Given the description of an element on the screen output the (x, y) to click on. 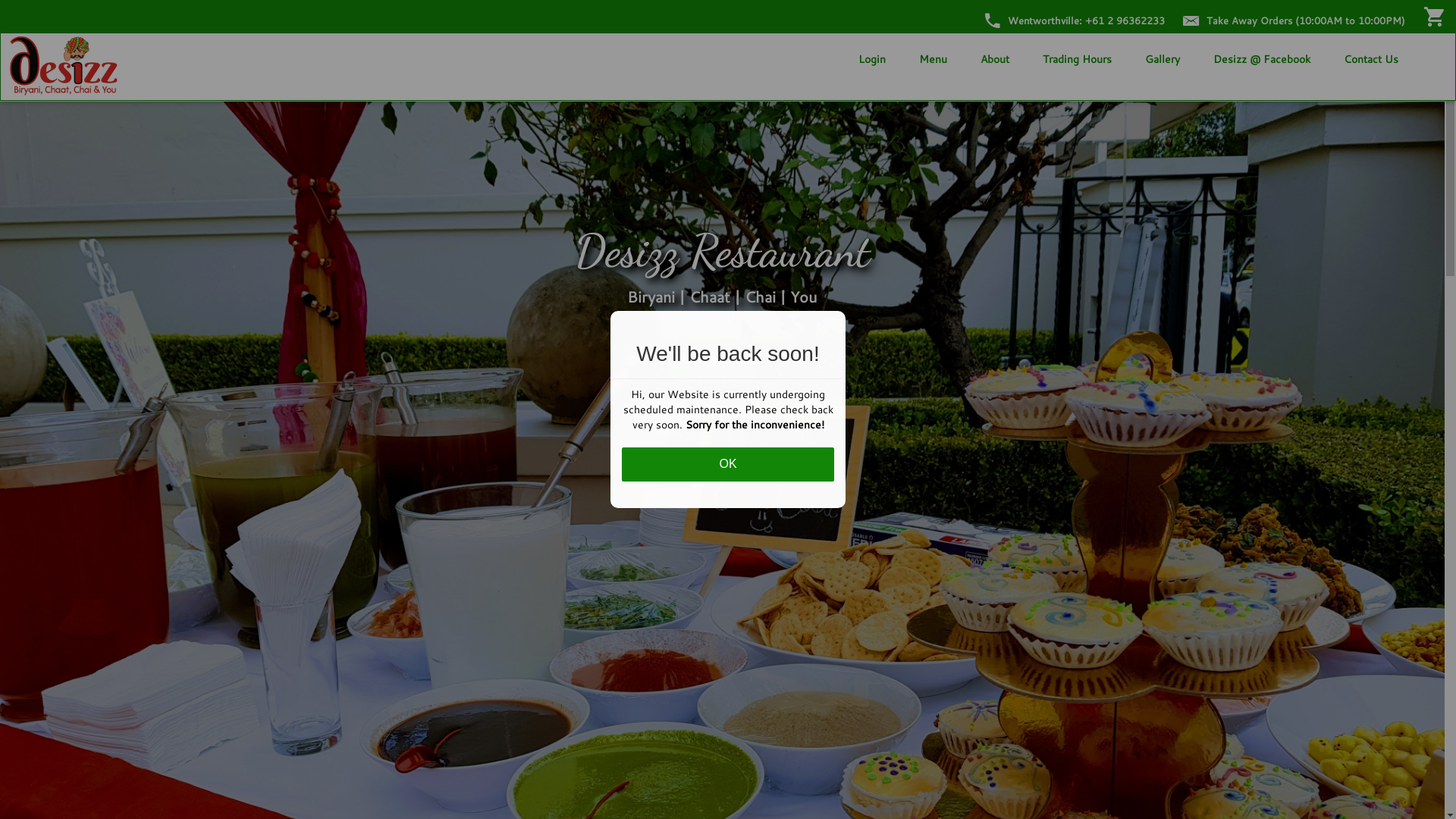
Menu Element type: text (933, 58)
Order Online Element type: text (722, 359)
Wentworthville: +61 2 96362233 Element type: text (1074, 20)
Gallery Element type: text (1162, 58)
About Element type: text (994, 58)
Trading Hours Element type: text (1076, 58)
Order Online Element type: text (722, 360)
Desizz @ Facebook Element type: text (1261, 58)
Take Away Orders (10:00AM to 10:00PM) Element type: text (1294, 20)
Contact Us Element type: text (1370, 58)
OK Element type: text (727, 464)
